Given the description of an element on the screen output the (x, y) to click on. 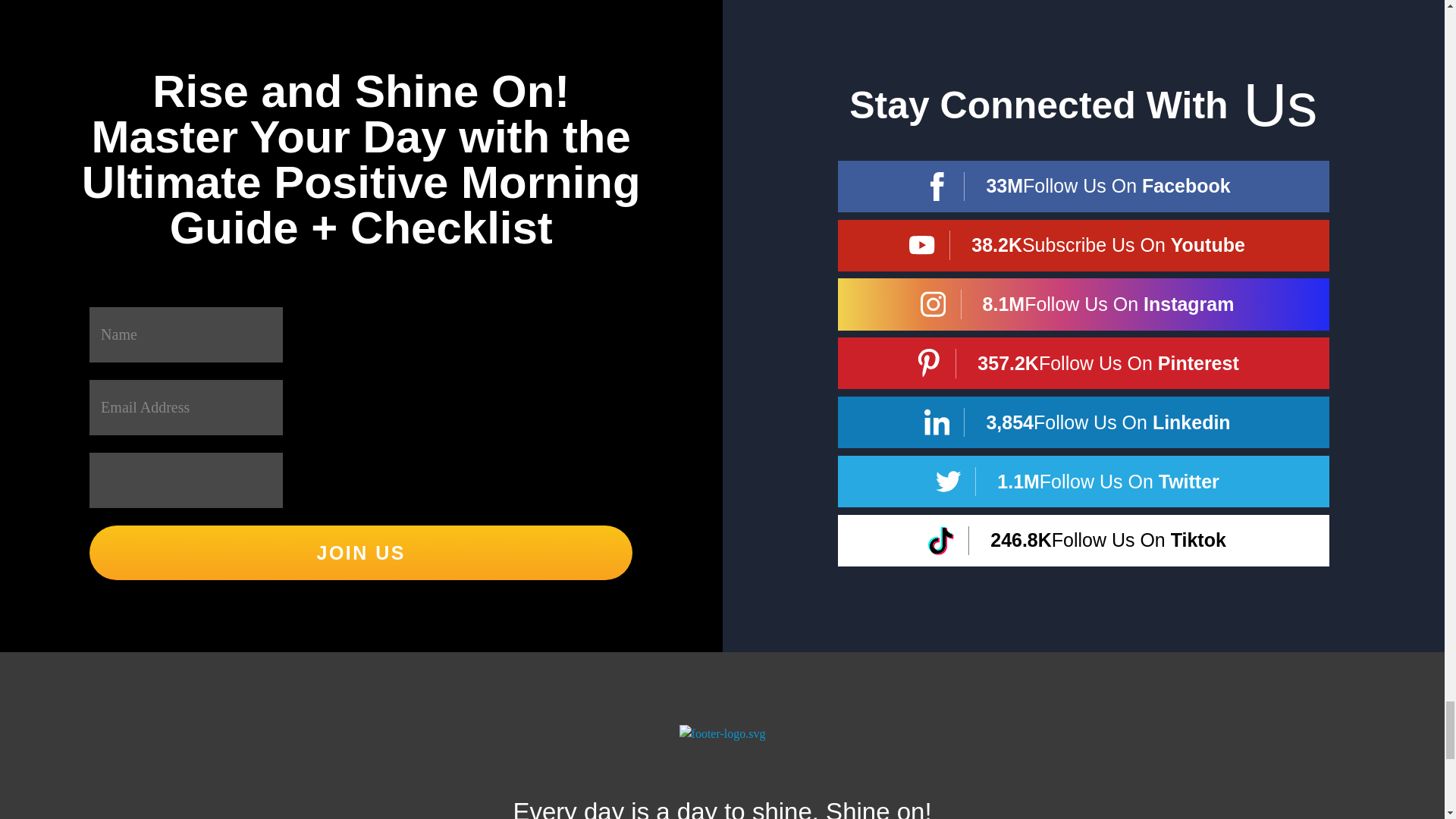
JOIN US (359, 552)
